Given the description of an element on the screen output the (x, y) to click on. 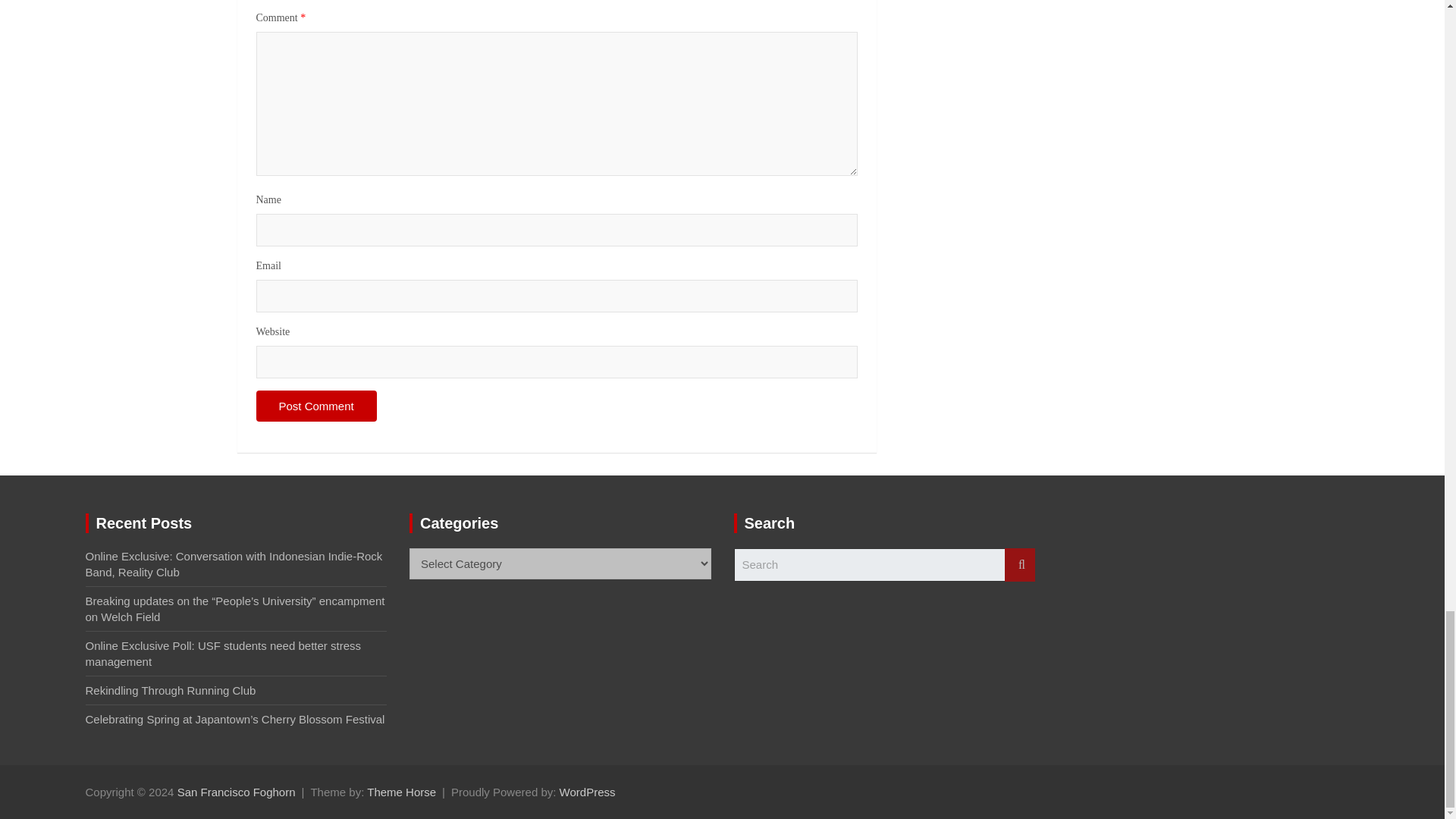
Post Comment (316, 405)
Post Comment (316, 405)
Theme Horse (400, 791)
San Francisco Foghorn (236, 791)
WordPress (587, 791)
